Given the description of an element on the screen output the (x, y) to click on. 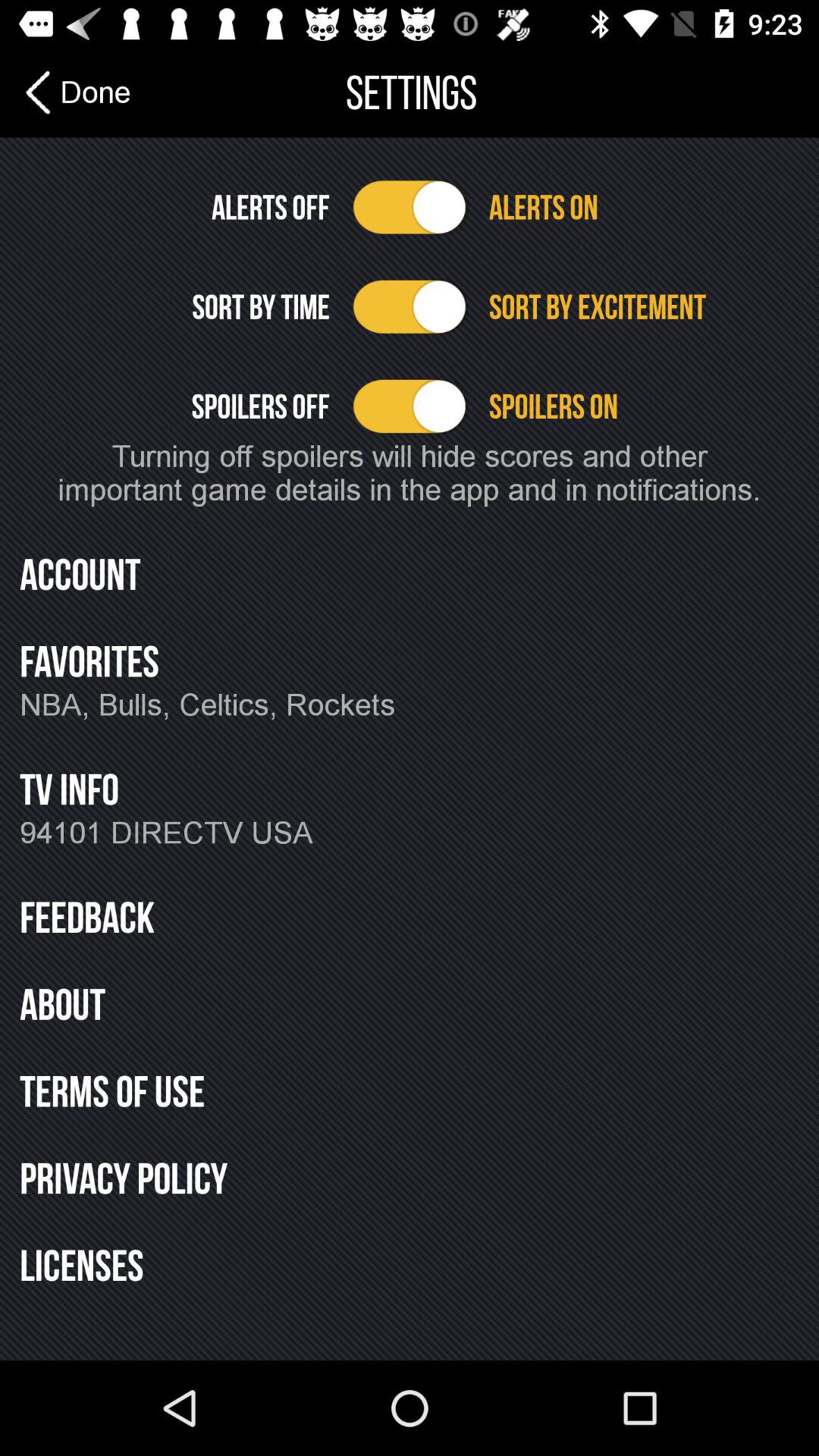
toggle alerts (409, 207)
